Given the description of an element on the screen output the (x, y) to click on. 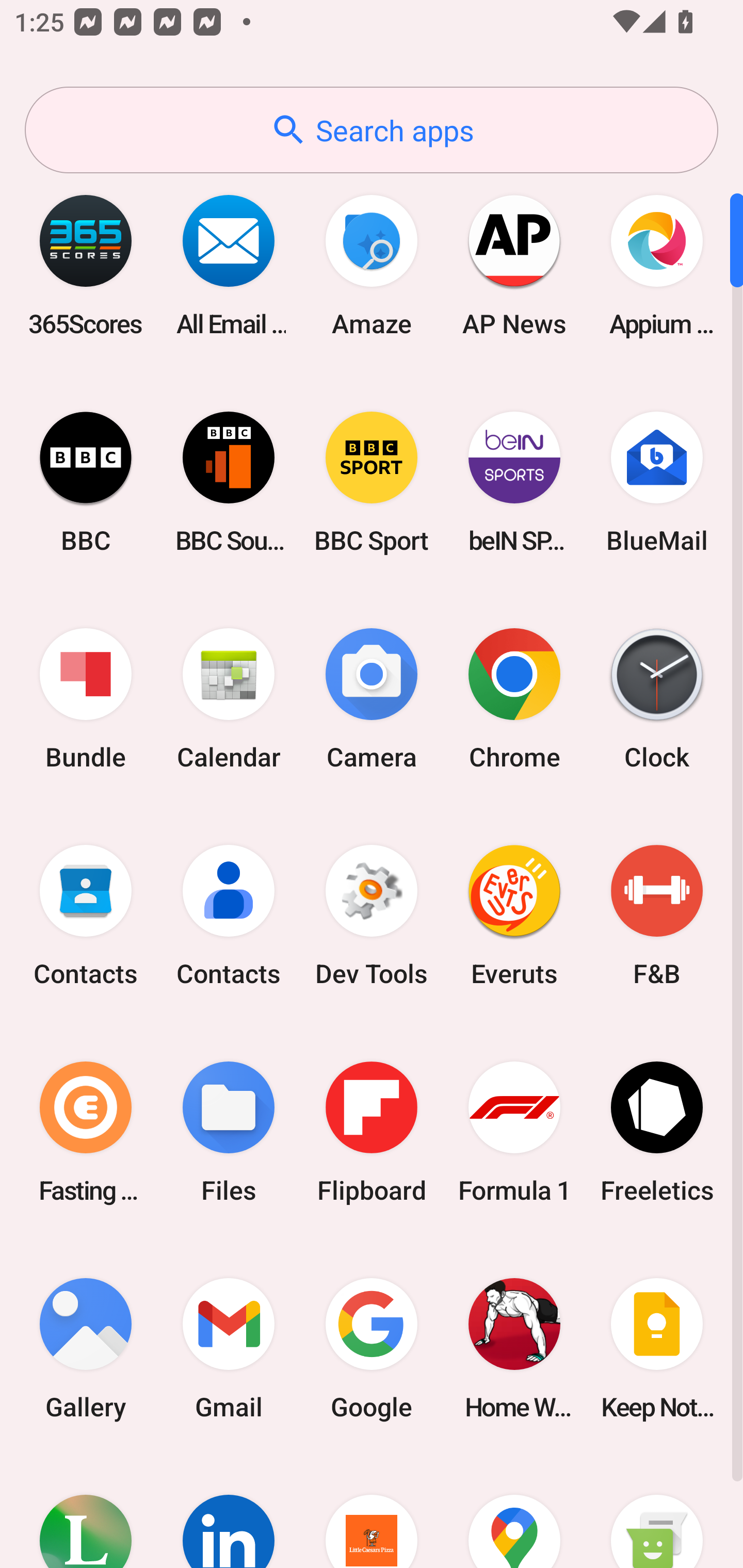
  Search apps (371, 130)
365Scores (85, 264)
All Email Connect (228, 264)
Amaze (371, 264)
AP News (514, 264)
Appium Settings (656, 264)
BBC (85, 482)
BBC Sounds (228, 482)
BBC Sport (371, 482)
beIN SPORTS (514, 482)
BlueMail (656, 482)
Bundle (85, 699)
Calendar (228, 699)
Camera (371, 699)
Chrome (514, 699)
Clock (656, 699)
Contacts (85, 915)
Contacts (228, 915)
Dev Tools (371, 915)
Everuts (514, 915)
F&B (656, 915)
Fasting Coach (85, 1131)
Files (228, 1131)
Flipboard (371, 1131)
Formula 1 (514, 1131)
Freeletics (656, 1131)
Gallery (85, 1348)
Gmail (228, 1348)
Google (371, 1348)
Home Workout (514, 1348)
Keep Notes (656, 1348)
Lifesum (85, 1512)
LinkedIn (228, 1512)
Little Caesars Pizza (371, 1512)
Maps (514, 1512)
Messaging (656, 1512)
